Given the description of an element on the screen output the (x, y) to click on. 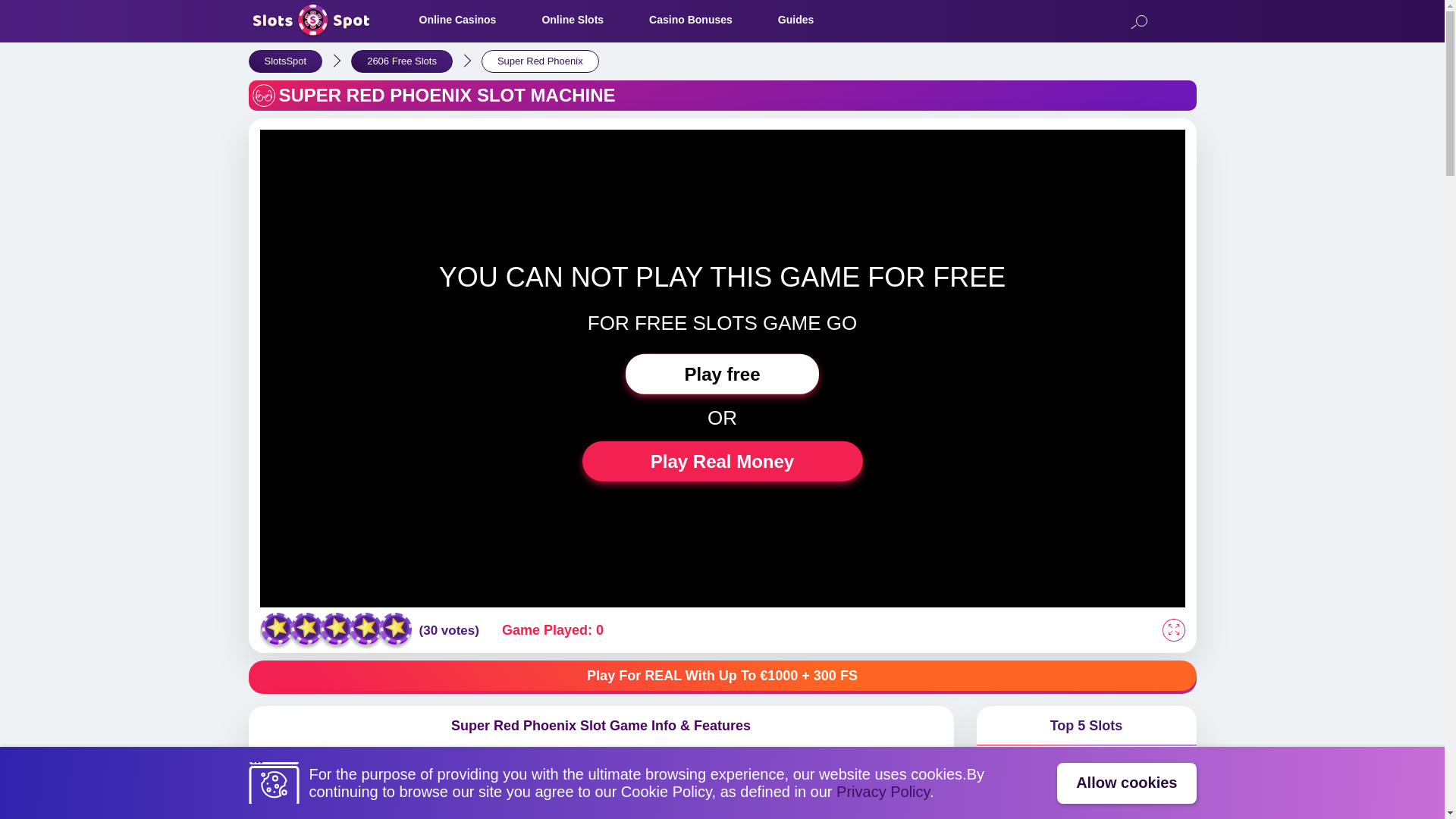
Online Slots (572, 19)
Search (1138, 22)
play free (722, 373)
Online Casinos (457, 19)
Full Screen (1173, 630)
